Given the description of an element on the screen output the (x, y) to click on. 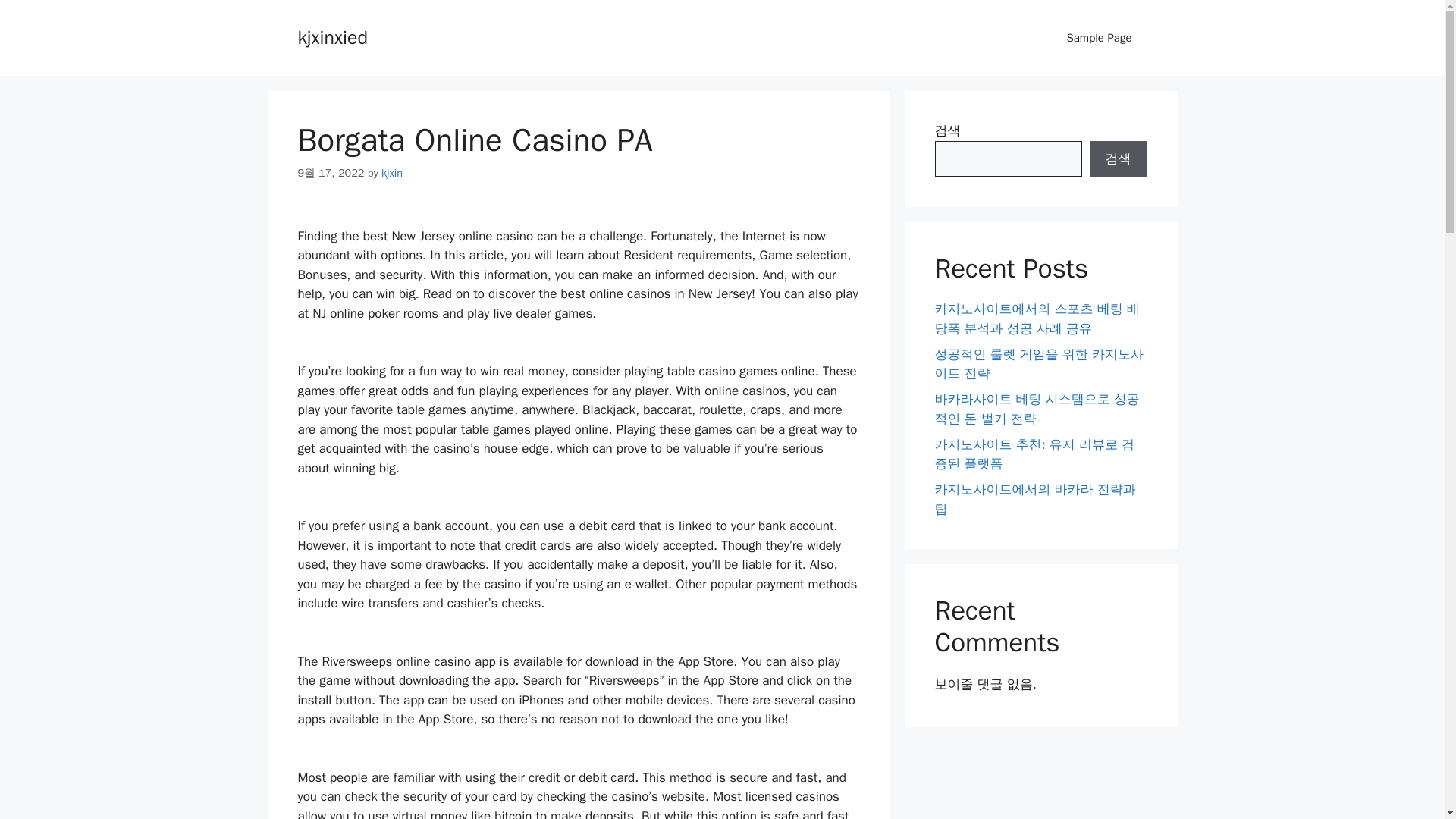
kjxin (392, 172)
View all posts by kjxin (392, 172)
Sample Page (1099, 37)
kjxinxied (331, 37)
